Given the description of an element on the screen output the (x, y) to click on. 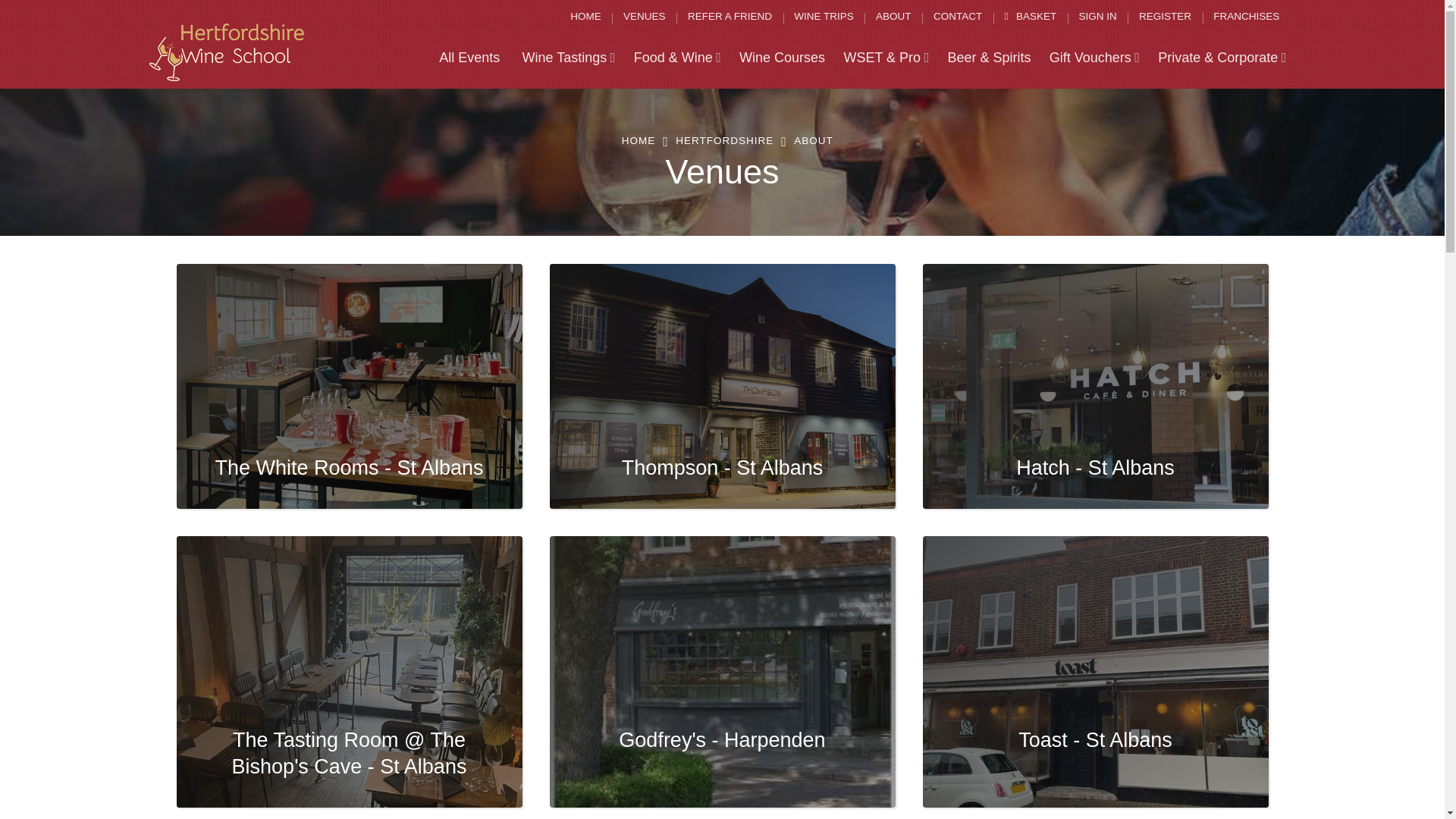
Wine Courses (782, 58)
SIGN IN (1096, 17)
REGISTER (1164, 17)
ABOUT (893, 17)
FRANCHISES (1246, 17)
All Events (468, 58)
CONTACT (957, 17)
BASKET (1029, 17)
WINE TRIPS (823, 17)
REFER A FRIEND (729, 17)
VENUES (644, 17)
Wine Tastings (568, 58)
HOME (585, 17)
